Given the description of an element on the screen output the (x, y) to click on. 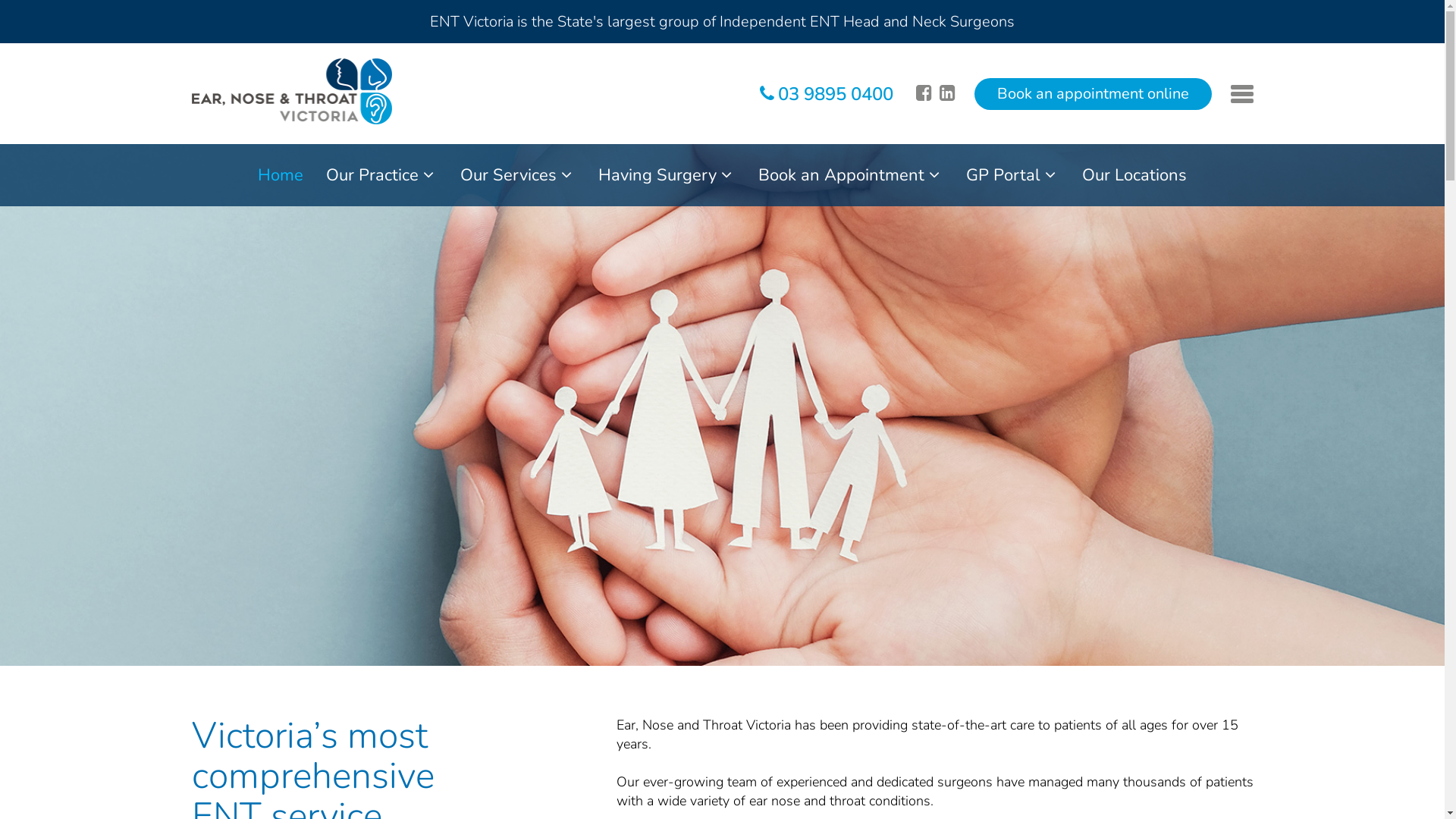
Home Element type: text (280, 175)
Our Services Element type: text (517, 175)
Having Surgery Element type: text (666, 175)
GP Portal Element type: text (1012, 175)
Our Locations Element type: text (1134, 175)
03 9895 0400 Element type: text (826, 93)
Book an Appointment Element type: text (850, 175)
Book an appointment online Element type: text (1092, 93)
Our Practice Element type: text (381, 175)
